Given the description of an element on the screen output the (x, y) to click on. 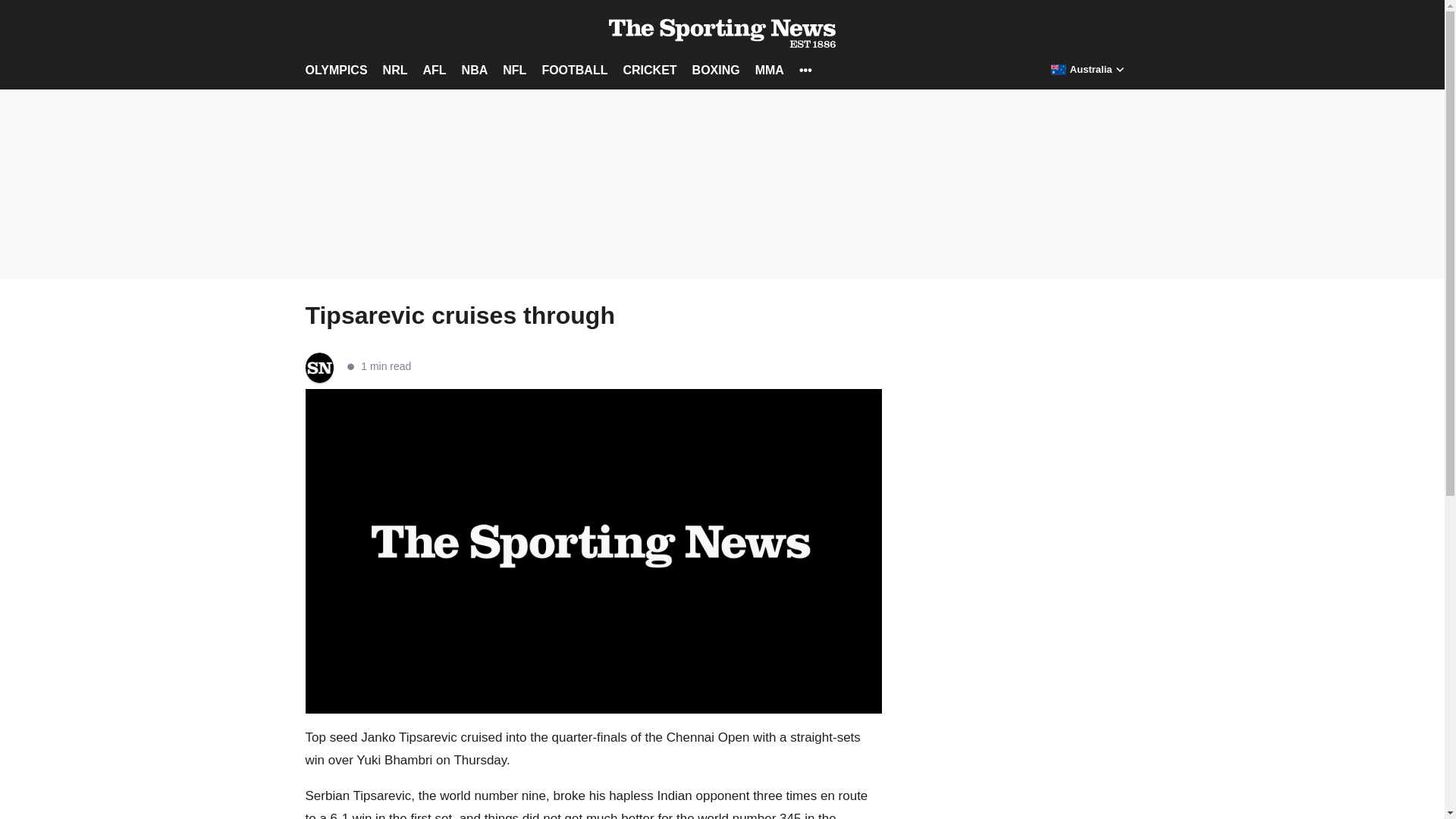
FOOTBALL (574, 70)
CRICKET (650, 70)
BOXING (716, 70)
OLYMPICS (335, 70)
